Given the description of an element on the screen output the (x, y) to click on. 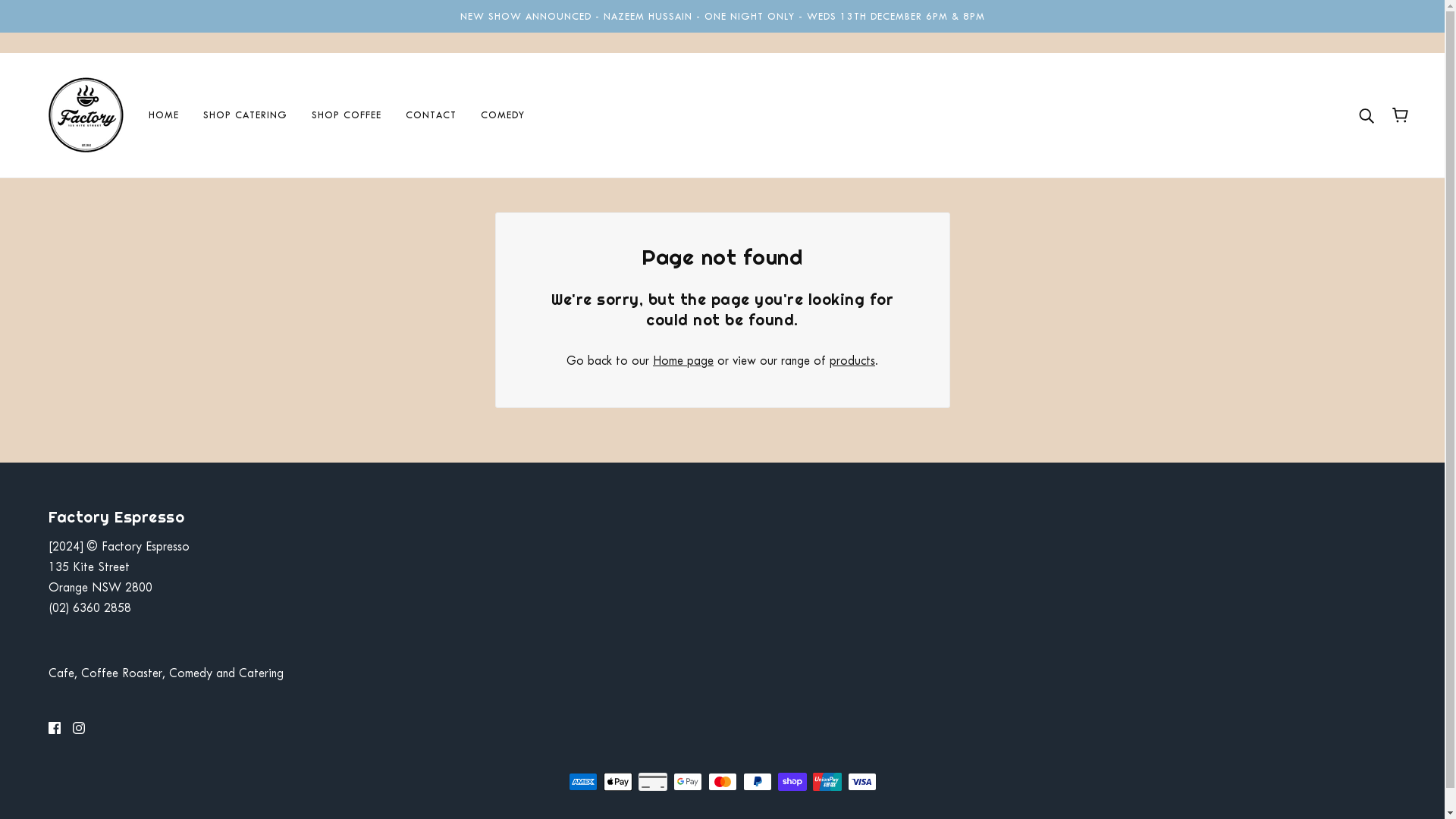
products Element type: text (852, 360)
COMEDY Element type: text (502, 114)
CONTACT Element type: text (430, 114)
Home page Element type: text (682, 360)
Factory Espresso Element type: hover (86, 113)
SHOP COFFEE Element type: text (346, 114)
SHOP CATERING Element type: text (245, 114)
HOME Element type: text (163, 114)
